Given the description of an element on the screen output the (x, y) to click on. 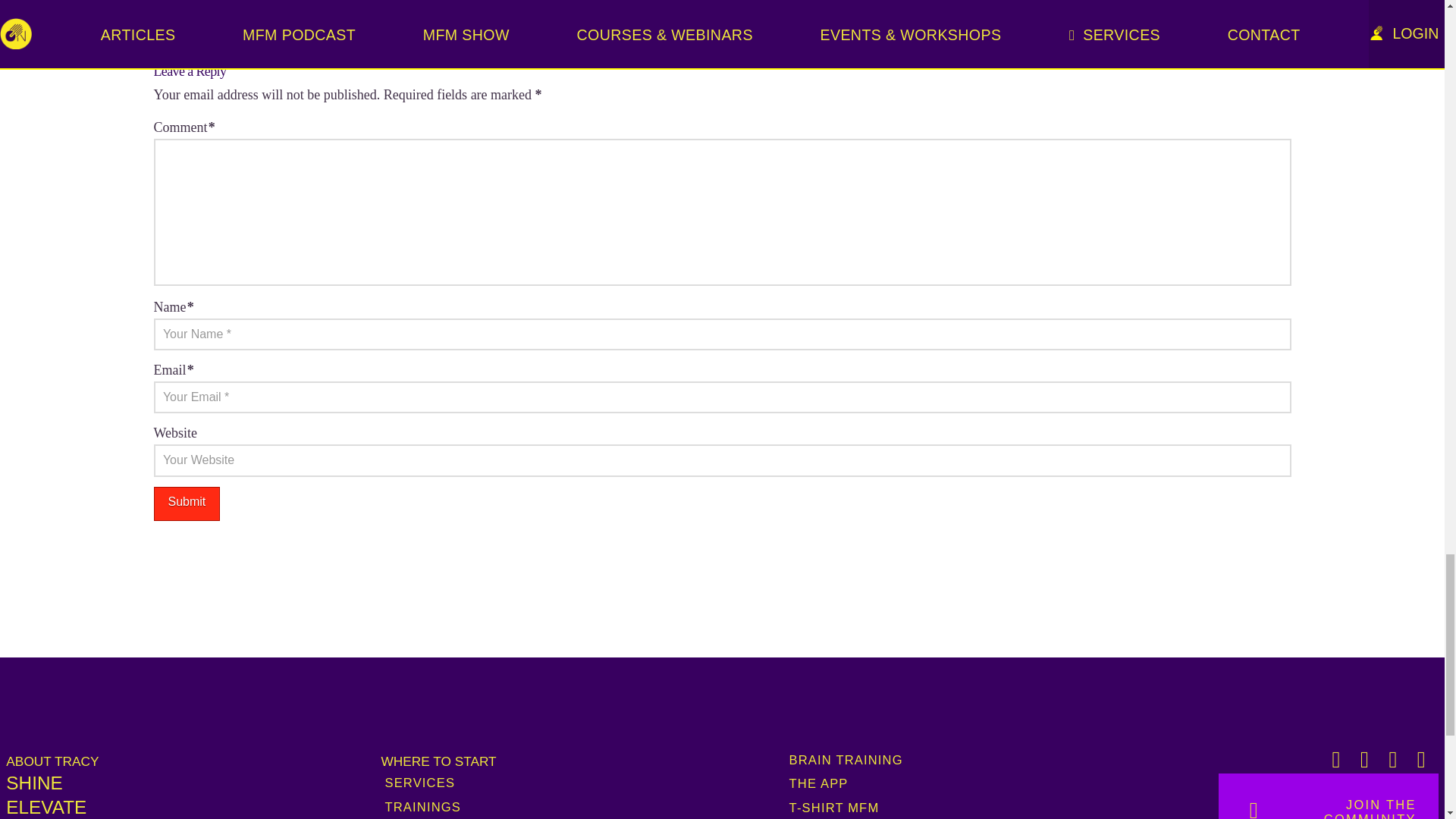
Submit (185, 503)
